Given the description of an element on the screen output the (x, y) to click on. 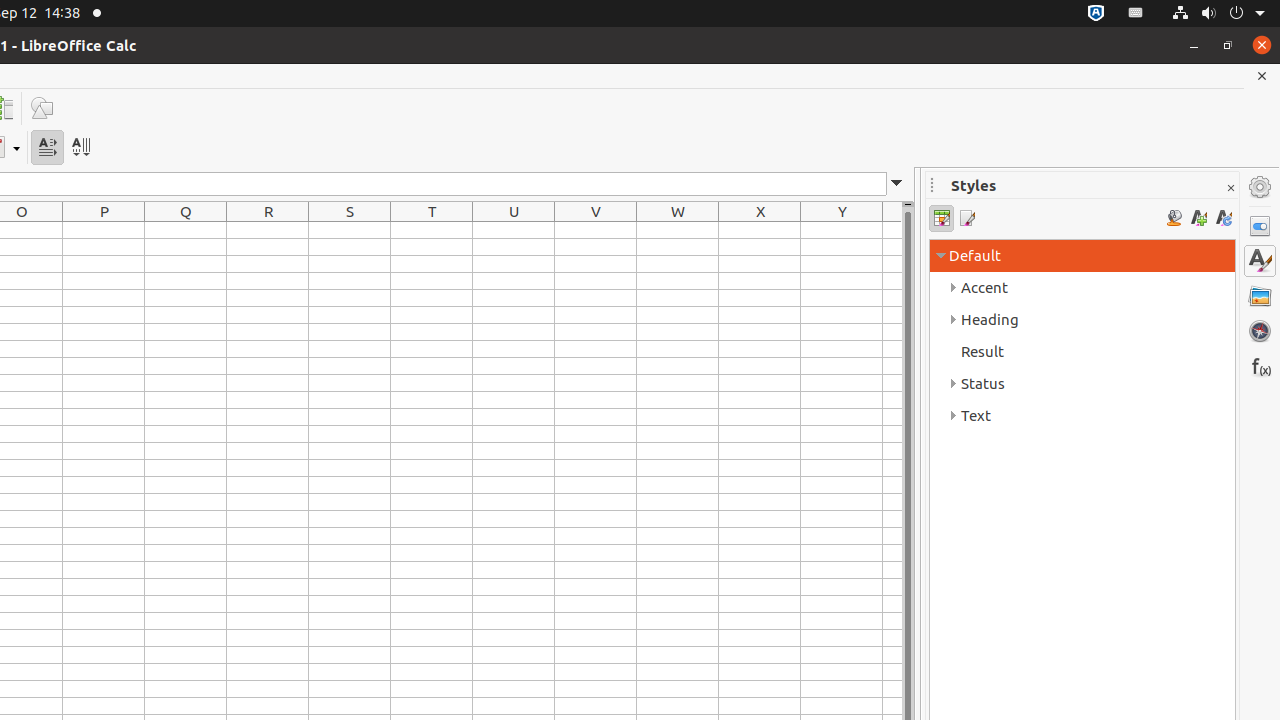
New Style from Selection Element type: push-button (1198, 218)
Draw Functions Element type: toggle-button (41, 108)
R1 Element type: table-cell (268, 230)
P1 Element type: table-cell (104, 230)
S1 Element type: table-cell (350, 230)
